Given the description of an element on the screen output the (x, y) to click on. 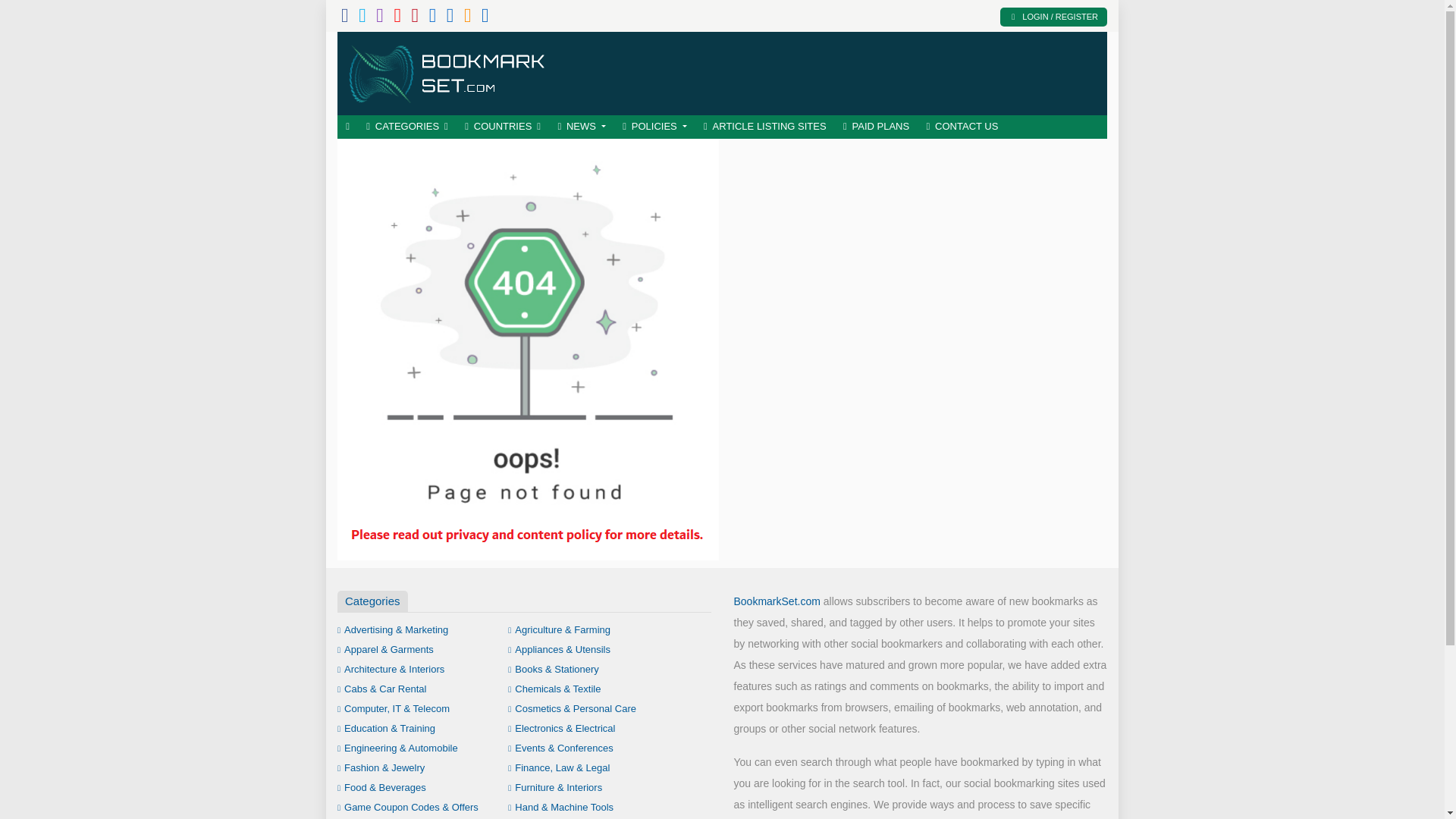
Tumblr (432, 18)
Linked In (485, 18)
YouTube (397, 18)
HOME (347, 126)
Facebook (344, 18)
Quality Search Engine Optimization Technique and Strategy (447, 71)
Medium (450, 18)
CATEGORIES (407, 126)
RSS Feed (467, 18)
Twitter (362, 18)
Pinterest (414, 18)
Instagram (379, 18)
